Given the description of an element on the screen output the (x, y) to click on. 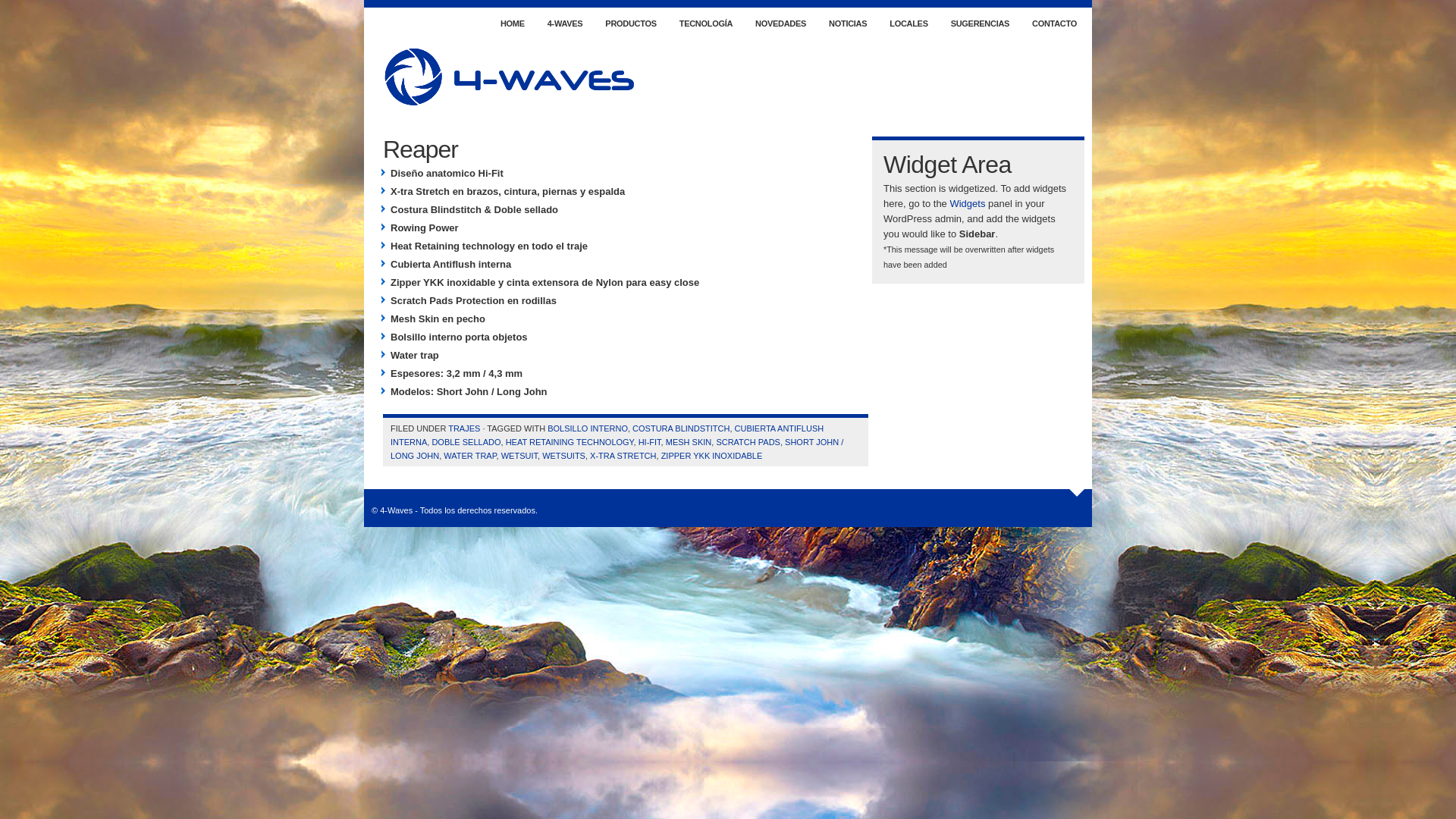
CONTACTO Element type: text (1054, 22)
SCRATCH PADS Element type: text (747, 441)
SHORT JOHN / LONG JOHN Element type: text (616, 448)
WETSUIT Element type: text (519, 455)
Widgets Element type: text (967, 203)
WATER TRAP Element type: text (469, 455)
X-TRA STRETCH Element type: text (622, 455)
HOME Element type: text (512, 22)
NOVEDADES Element type: text (780, 22)
PRODUCTOS Element type: text (630, 22)
NOTICIAS Element type: text (847, 22)
HI-FIT Element type: text (649, 441)
4-WAVES Element type: text (564, 22)
HEAT RETAINING TECHNOLOGY Element type: text (569, 441)
ZIPPER YKK INOXIDABLE Element type: text (711, 455)
Reaper Element type: text (420, 149)
COSTURA BLINDSTITCH Element type: text (680, 428)
DOBLE SELLADO Element type: text (465, 441)
WETSUITS Element type: text (563, 455)
MESH SKIN Element type: text (688, 441)
TRAJES Element type: text (464, 428)
SUGERENCIAS Element type: text (979, 22)
BOLSILLO INTERNO Element type: text (587, 428)
LOCALES Element type: text (908, 22)
CUBIERTA ANTIFLUSH INTERNA Element type: text (606, 434)
